Given the description of an element on the screen output the (x, y) to click on. 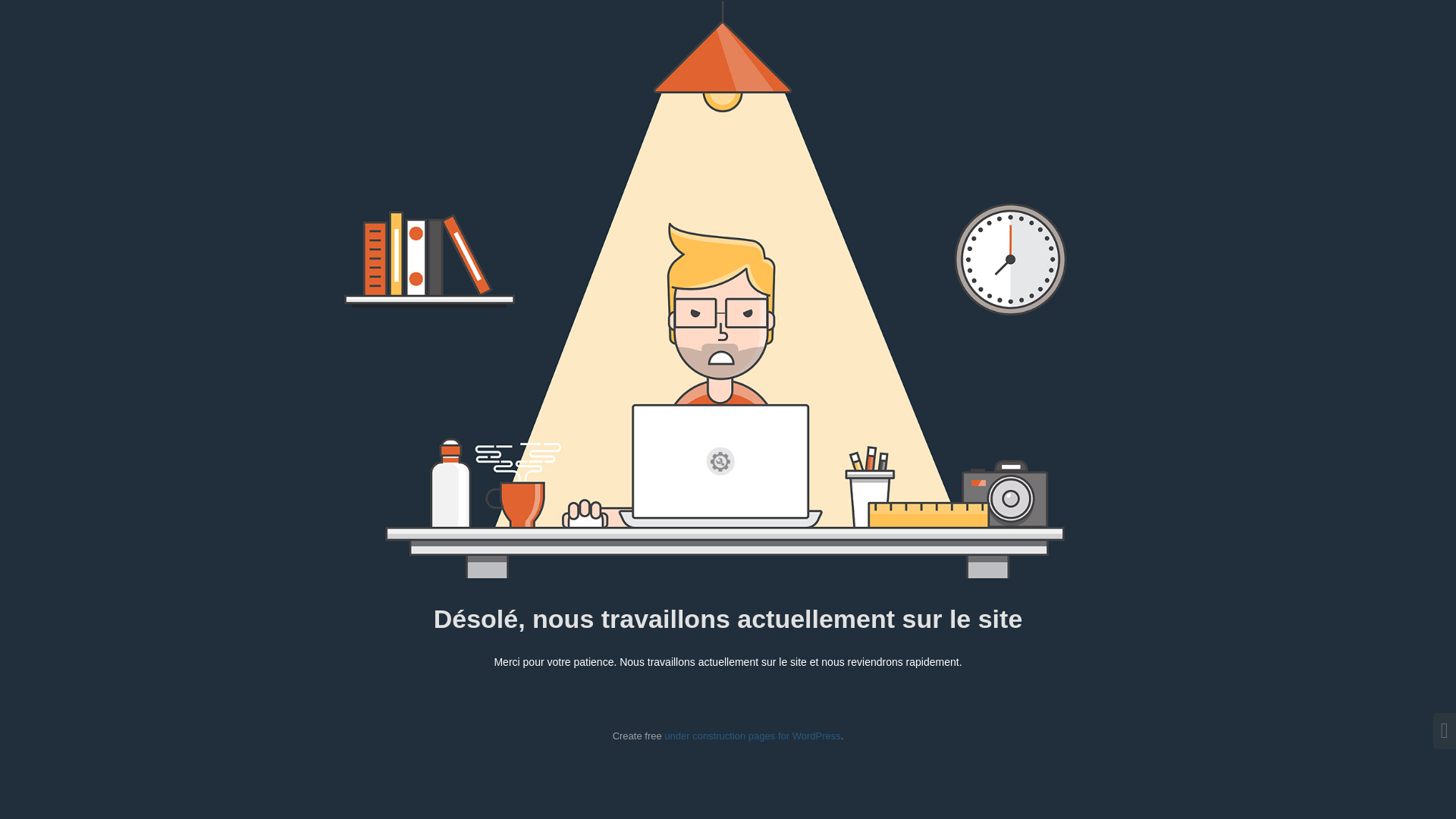
under construction pages for WordPress (751, 736)
